Given the description of an element on the screen output the (x, y) to click on. 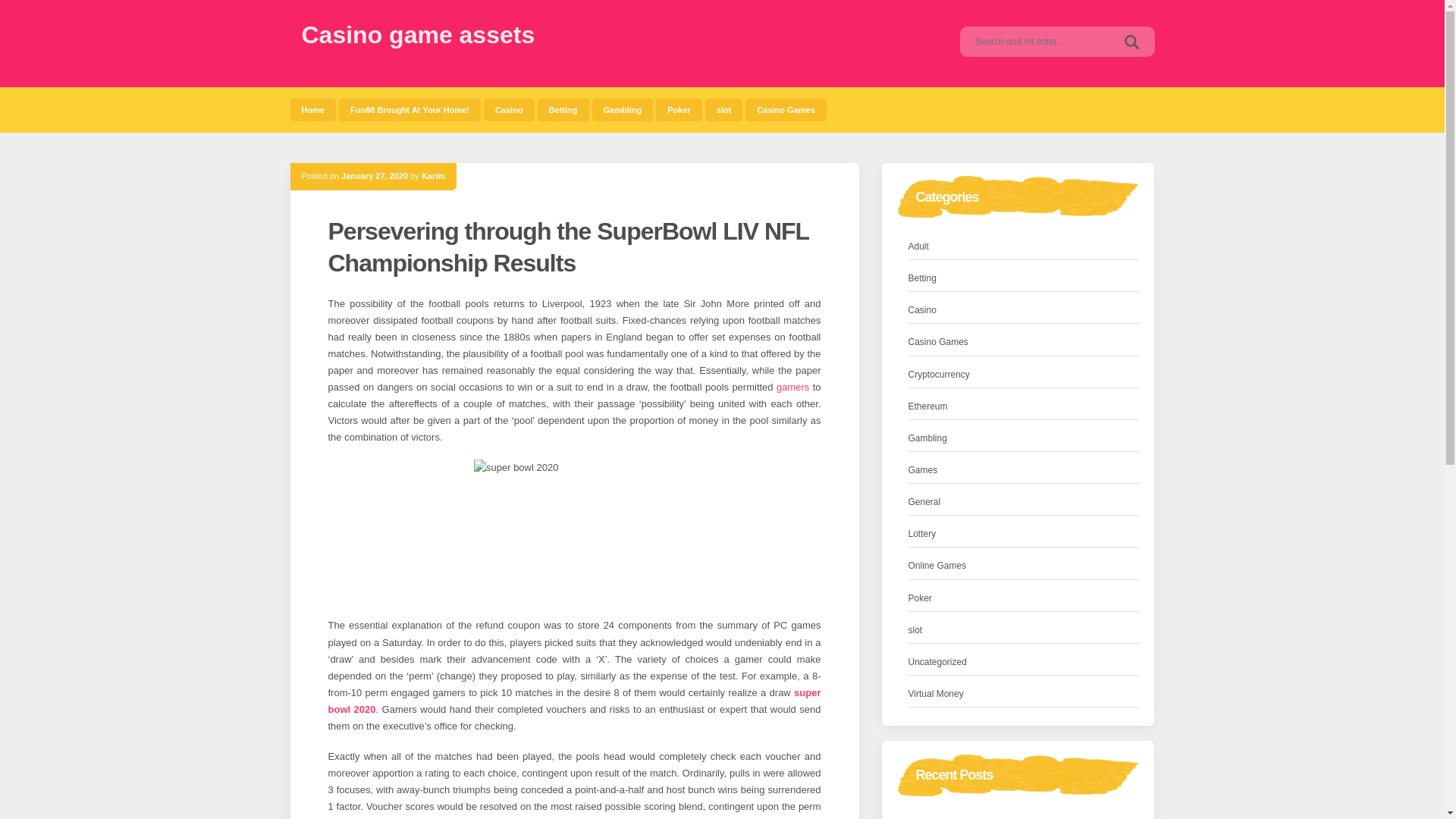
Fun88 Brought At Your Home! (409, 109)
super bowl 2020 (574, 700)
Casino Games (938, 342)
Cryptocurrency (938, 374)
Betting (563, 109)
Poker (678, 109)
Home (312, 109)
Casino game assets (418, 34)
Casino (508, 109)
Gambling (621, 109)
Ethereum (927, 406)
Search (1131, 41)
Search (1131, 41)
Search (1131, 41)
slot (723, 109)
